Given the description of an element on the screen output the (x, y) to click on. 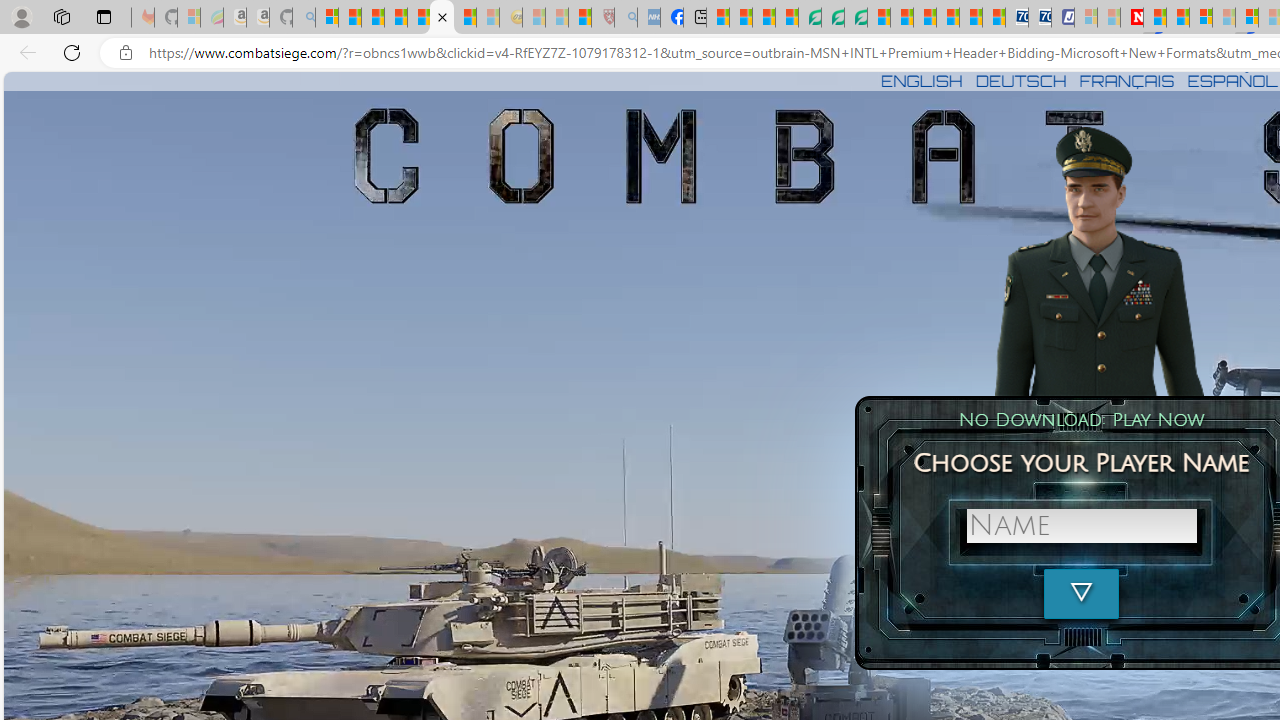
14 Common Myths Debunked By Scientific Facts (1178, 17)
World - MSN (763, 17)
The Weather Channel - MSN (372, 17)
Microsoft Word - consumer-privacy address update 2.2021 (855, 17)
